Given the description of an element on the screen output the (x, y) to click on. 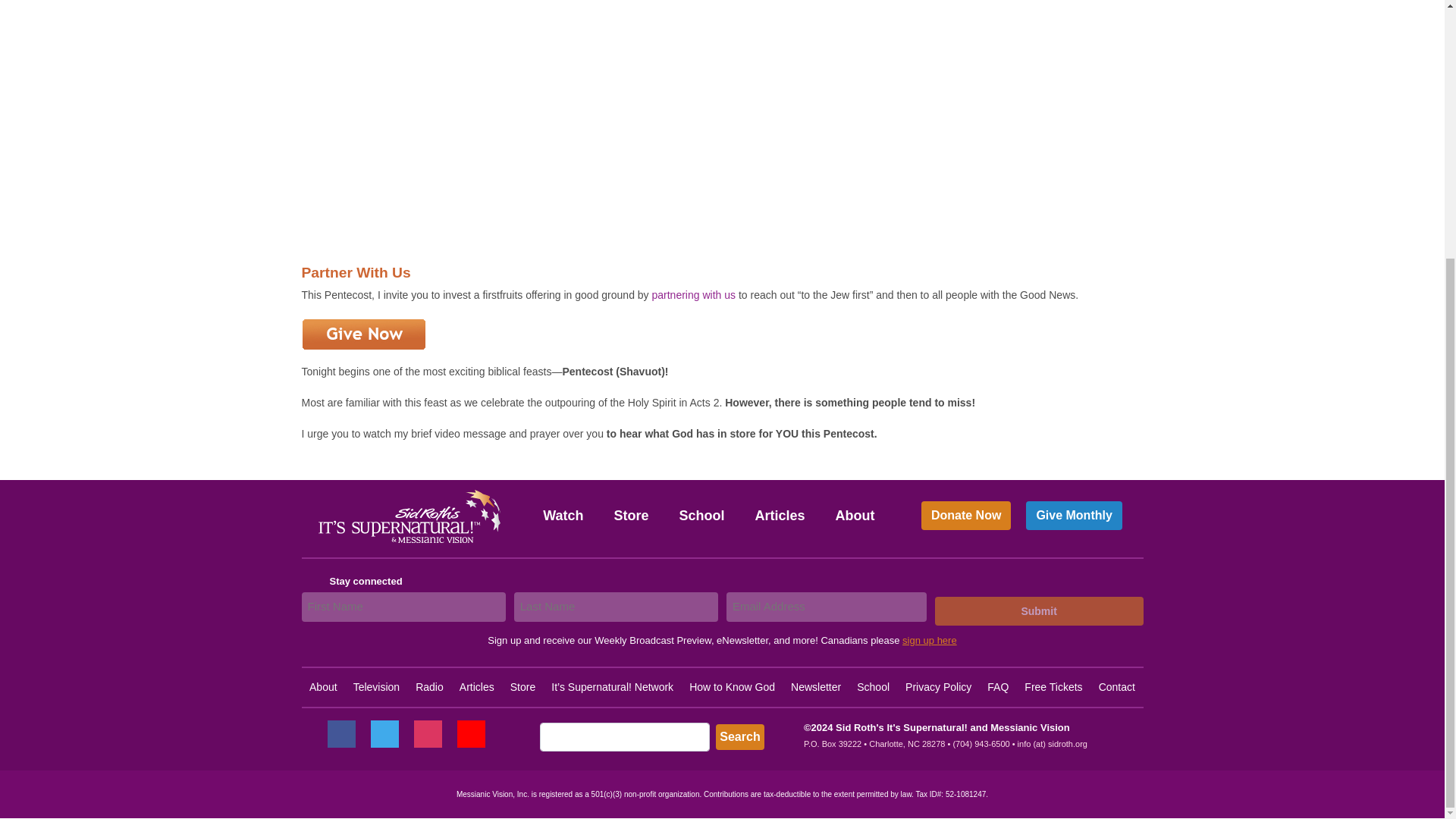
School (873, 686)
Newsletter (815, 686)
Articles (477, 686)
Submit (1038, 611)
Submit (1038, 611)
Television (375, 686)
Articles (780, 515)
How to Know God (731, 686)
School (701, 515)
About (322, 686)
partnering with us (694, 295)
Privacy Policy (938, 686)
About (855, 515)
Give Monthly (1073, 515)
